Given the description of an element on the screen output the (x, y) to click on. 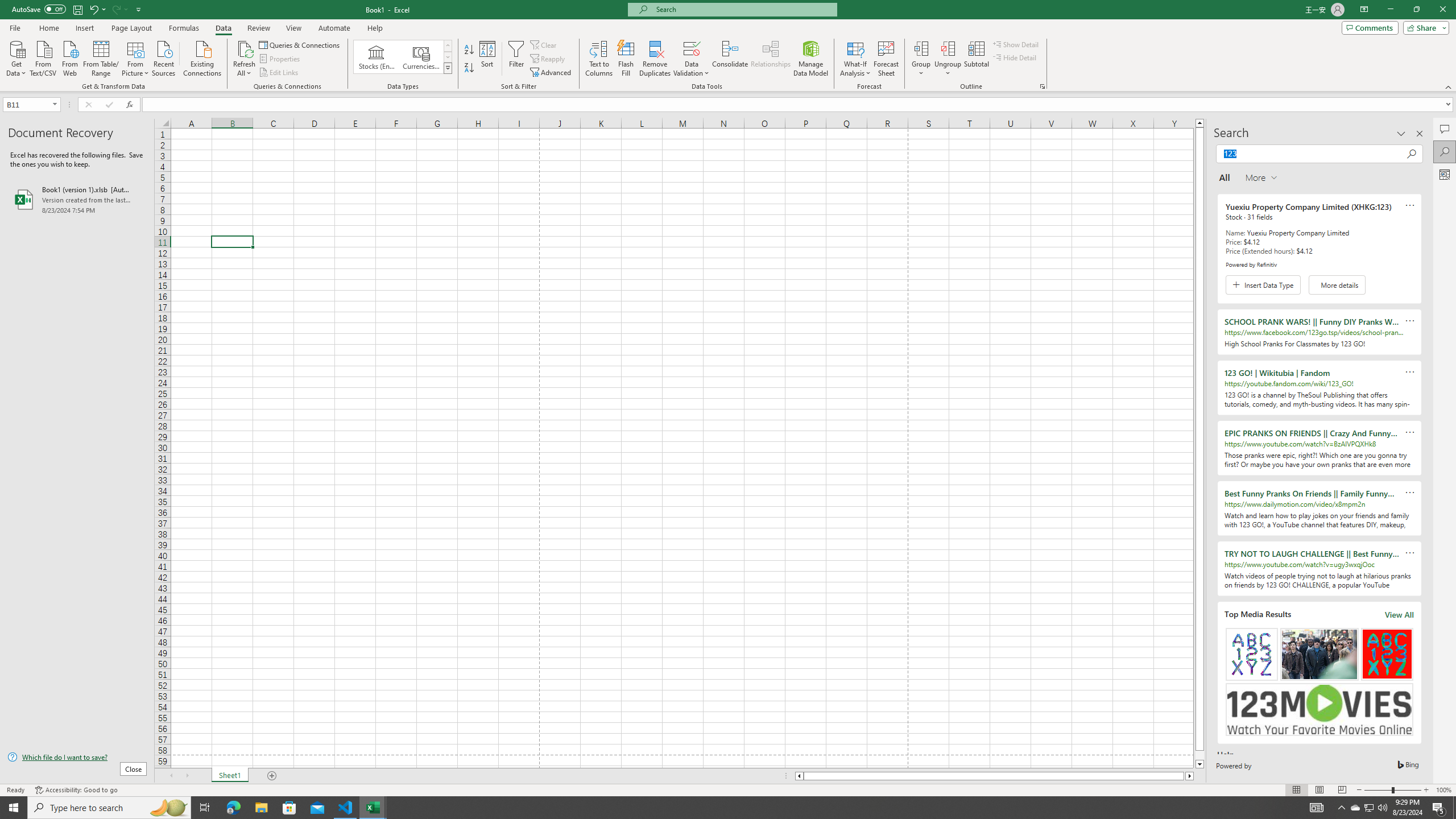
Task Pane Options (1400, 133)
Quick Access Toolbar (77, 9)
Page Break Preview (1342, 790)
AutoSave (38, 9)
Hide Detail (1014, 56)
Save (77, 9)
Accessibility Checker Accessibility: Good to go (76, 790)
Ungroup... (947, 58)
Group... (921, 58)
Flash Fill (625, 58)
Queries & Connections (300, 44)
